Given the description of an element on the screen output the (x, y) to click on. 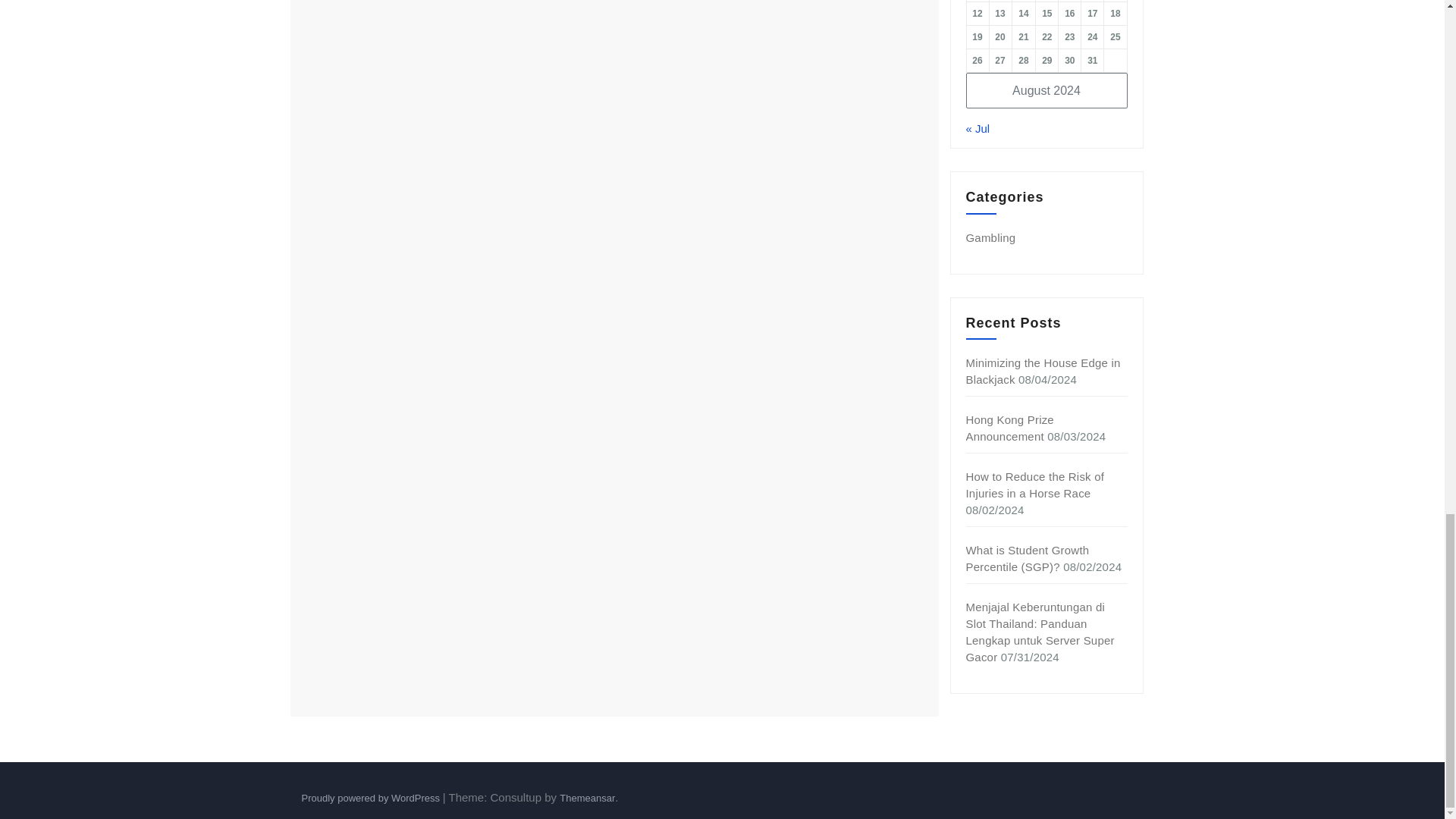
How to Reduce the Risk of Injuries in a Horse Race (1035, 484)
Hong Kong Prize Announcement (1010, 428)
Proudly powered by WordPress (371, 797)
Themeansar (586, 797)
Minimizing the House Edge in Blackjack (1043, 370)
Gambling (991, 237)
